Given the description of an element on the screen output the (x, y) to click on. 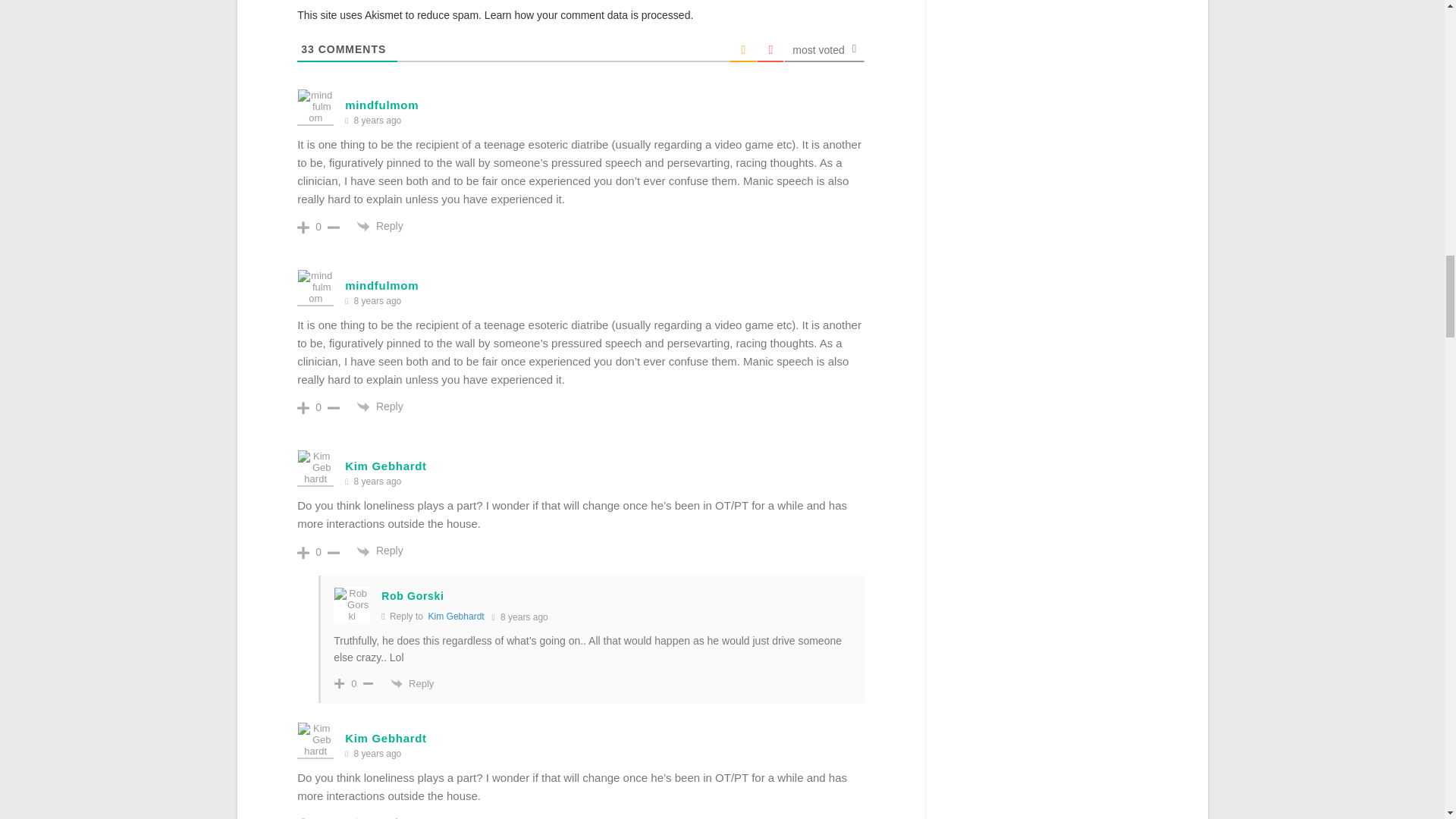
0 (317, 226)
33 (307, 49)
February 19, 2018 12:54 pm (377, 120)
